Given the description of an element on the screen output the (x, y) to click on. 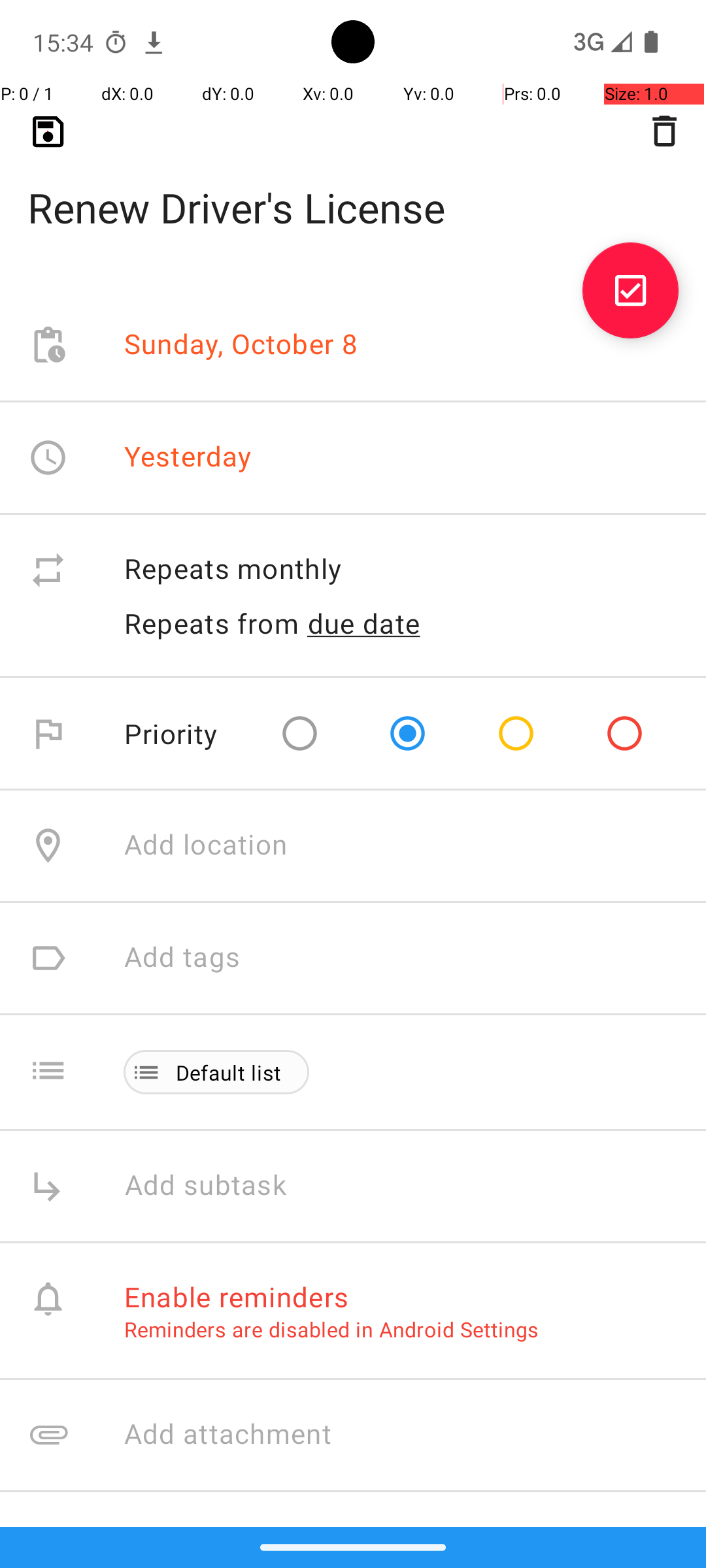
Sunday, October 8 Element type: android.widget.TextView (240, 344)
Repeats monthly Element type: android.widget.TextView (400, 569)
